Given the description of an element on the screen output the (x, y) to click on. 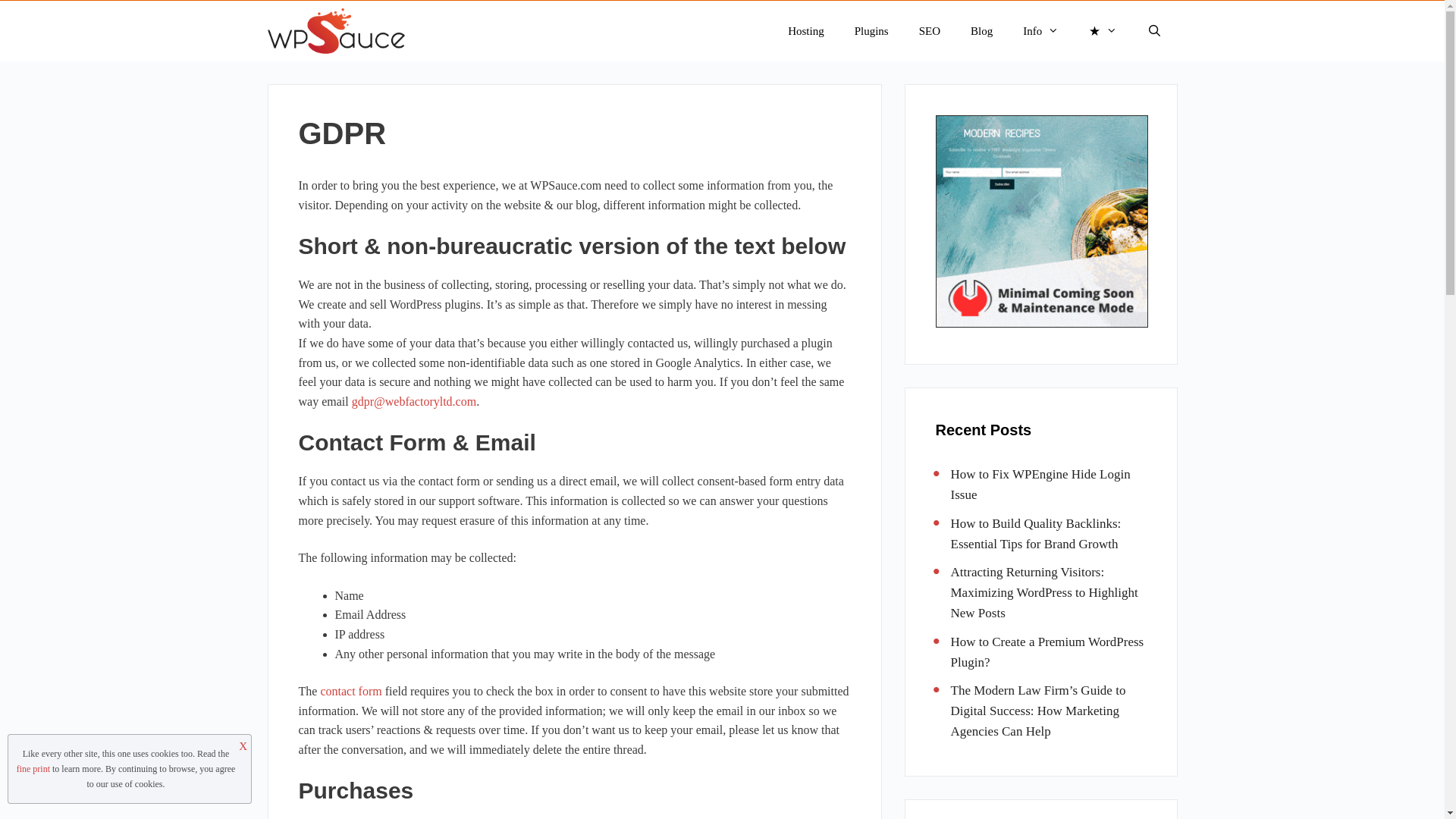
How to Fix WPEngine Hide Login Issue (1040, 484)
WP Sauce (335, 30)
Plugins (872, 30)
Info (1040, 30)
WP Sauce (339, 30)
contact form (350, 690)
Hosting (806, 30)
